Given the description of an element on the screen output the (x, y) to click on. 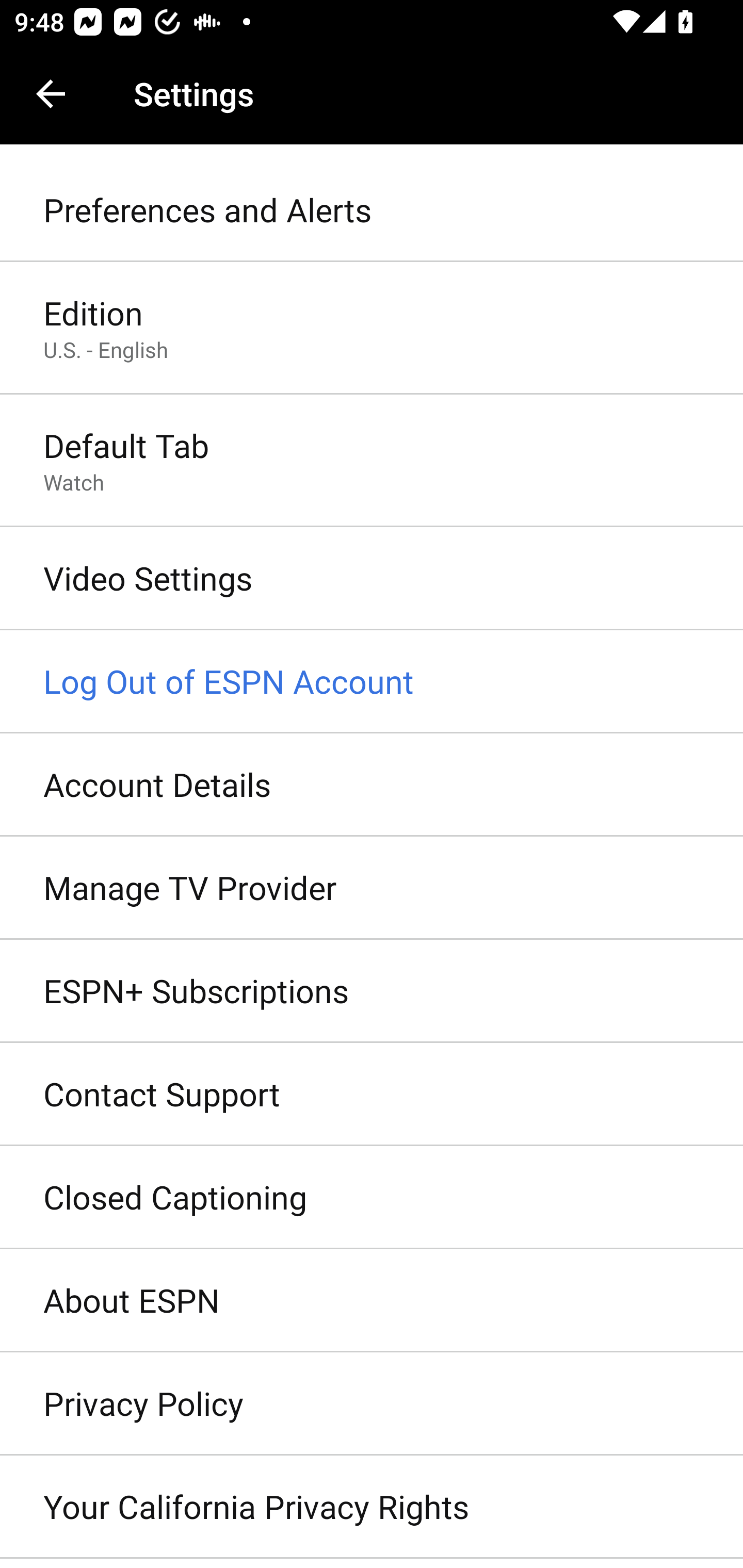
Navigate up (50, 93)
Preferences and Alerts (371, 209)
Edition U.S. - English (371, 328)
Default Tab Watch (371, 461)
Video Settings (371, 578)
Log Out of ESPN Account (371, 681)
Account Details (371, 785)
Manage TV Provider (371, 888)
ESPN+ Subscriptions (371, 990)
Contact Support (371, 1094)
Closed Captioning (371, 1197)
About ESPN (371, 1301)
Privacy Policy (371, 1403)
Your California Privacy Rights (371, 1506)
